Given the description of an element on the screen output the (x, y) to click on. 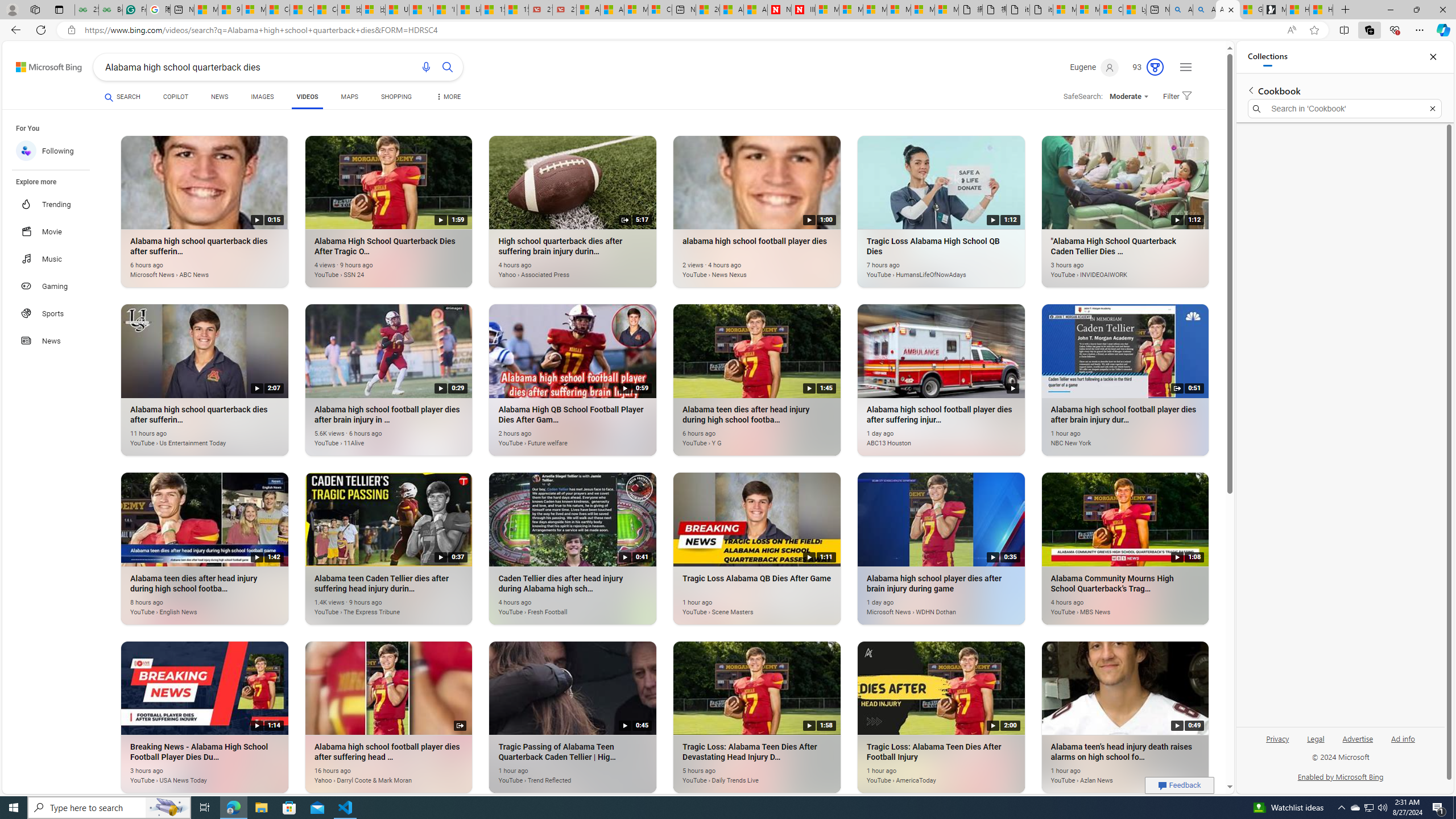
SafeSearch: (1078, 96)
Illness news & latest pictures from Newsweek.com (802, 9)
Trending (56, 204)
SHOPPING (395, 96)
How to Use a TV as a Computer Monitor (1321, 9)
